Given the description of an element on the screen output the (x, y) to click on. 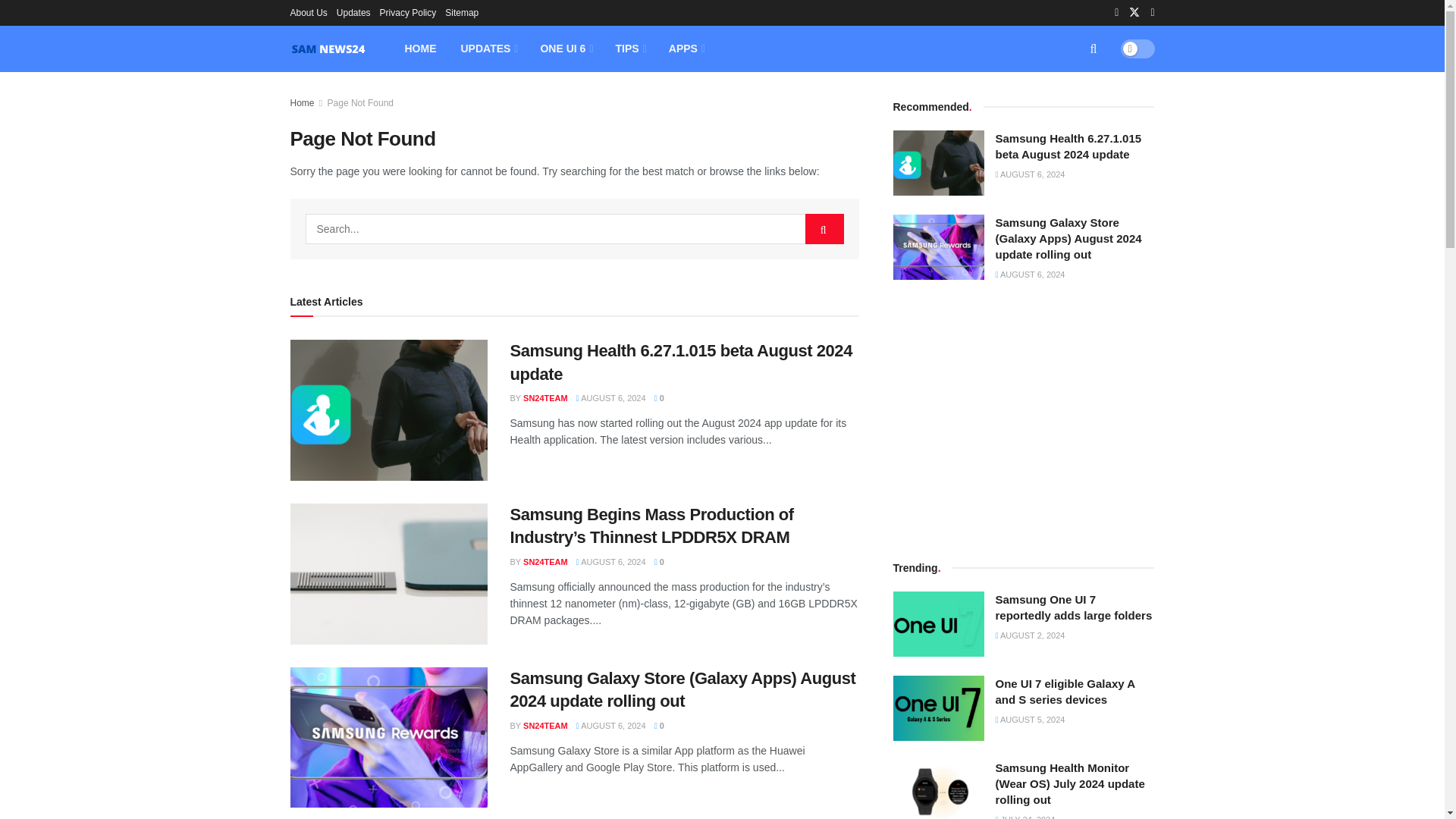
About Us (307, 12)
Privacy Policy (408, 12)
TIPS (630, 48)
UPDATES (488, 48)
Updates (353, 12)
Advertisement (1023, 418)
ONE UI 6 (564, 48)
Sitemap (462, 12)
HOME (420, 48)
